Given the description of an element on the screen output the (x, y) to click on. 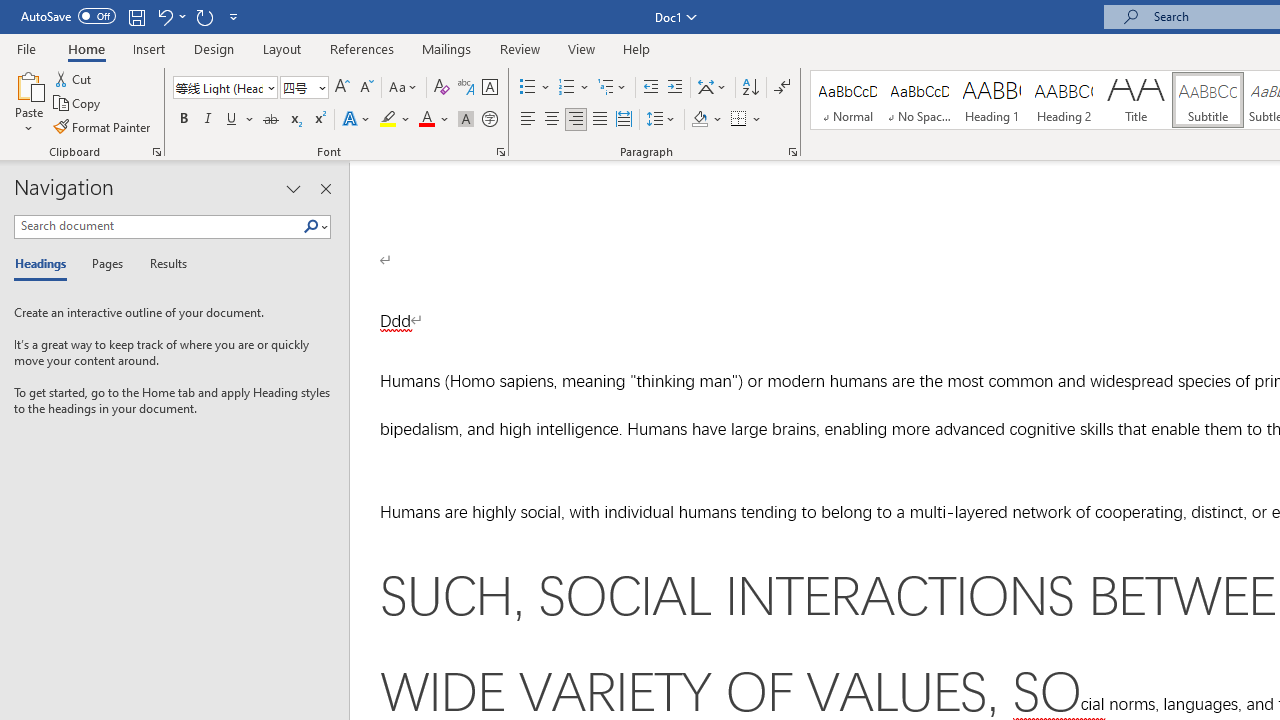
Grow Font (342, 87)
Font Color Red (426, 119)
Character Border (489, 87)
Layout (282, 48)
Office Clipboard... (156, 151)
Phonetic Guide... (465, 87)
Repeat Paragraph Alignment (204, 15)
Show/Hide Editing Marks (781, 87)
Copy (78, 103)
AutoSave (68, 16)
